Given the description of an element on the screen output the (x, y) to click on. 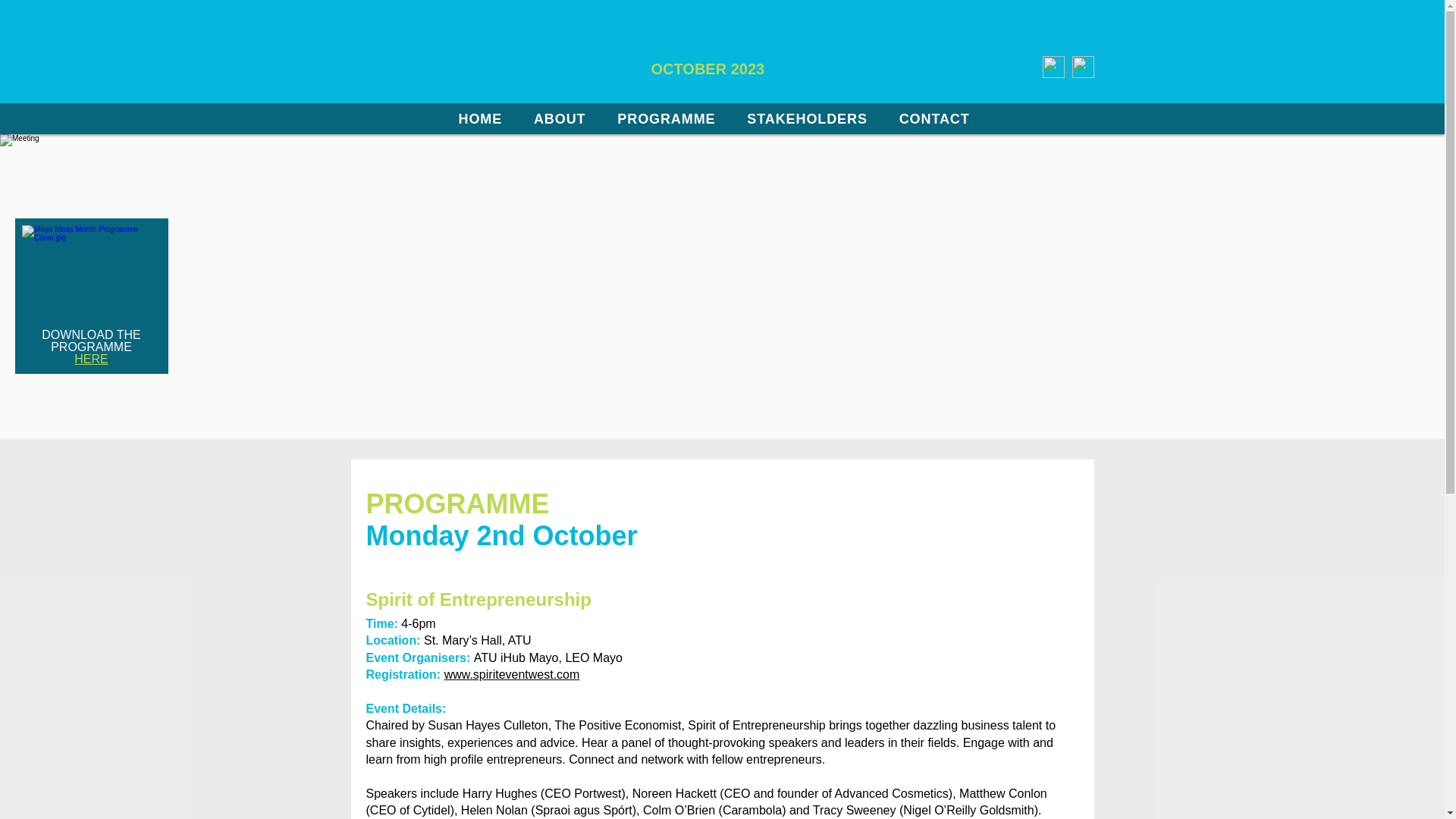
HOME (484, 119)
HERE (90, 358)
www.spiriteventwest.com (511, 674)
STAKEHOLDERS (812, 119)
CONTACT (939, 119)
